Given the description of an element on the screen output the (x, y) to click on. 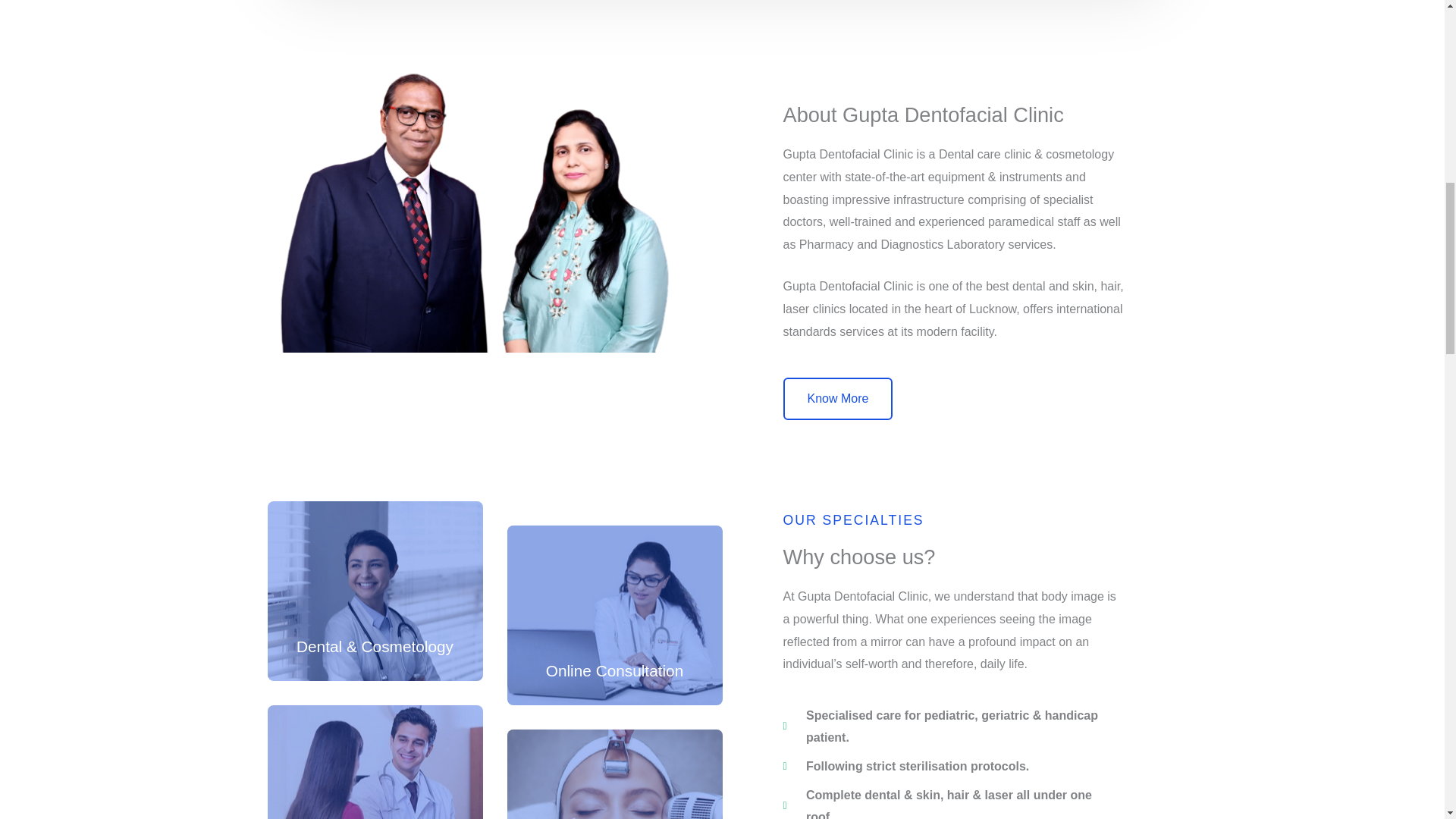
Know More (837, 398)
